Given the description of an element on the screen output the (x, y) to click on. 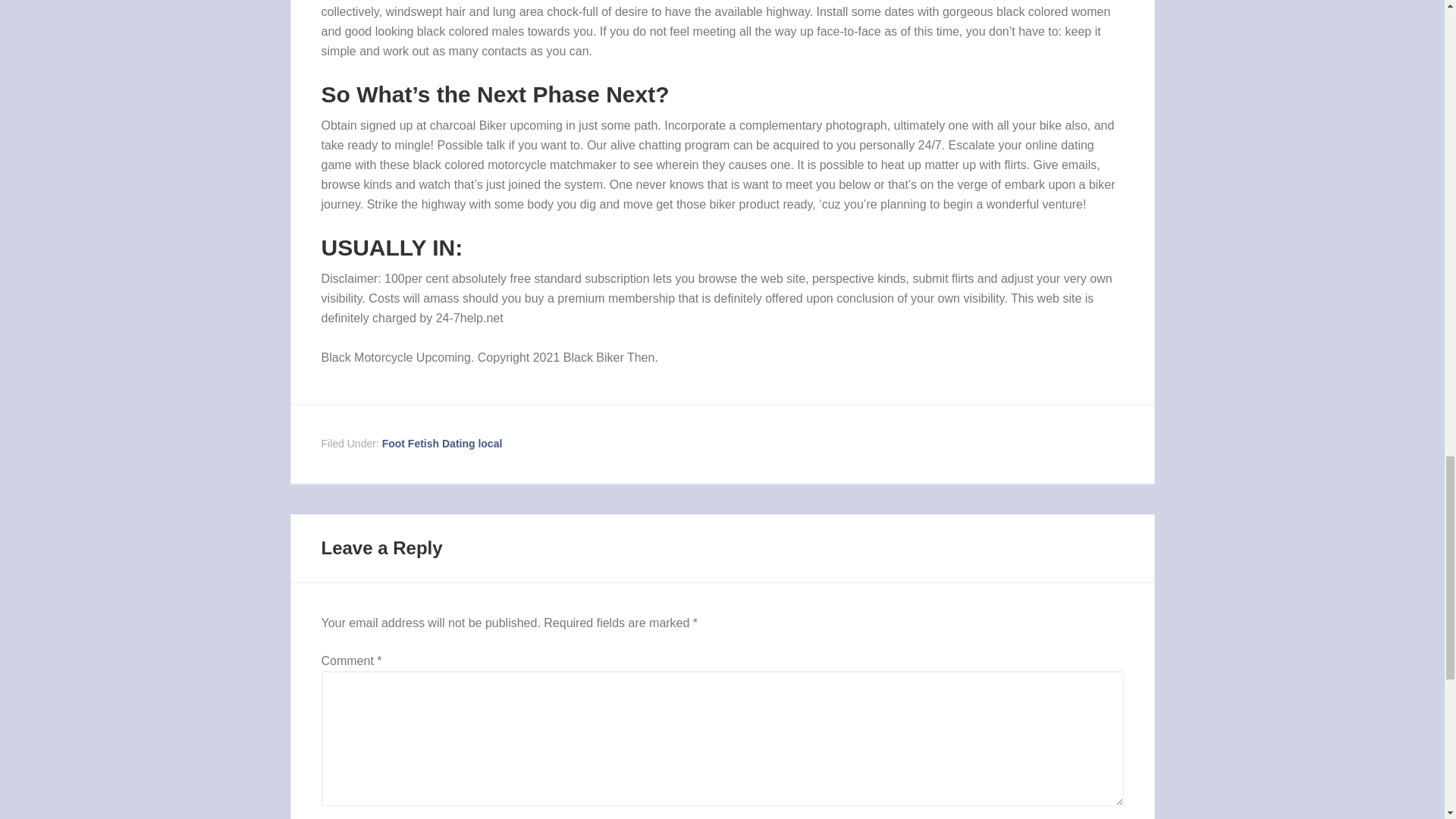
Foot Fetish Dating local (441, 443)
